Given the description of an element on the screen output the (x, y) to click on. 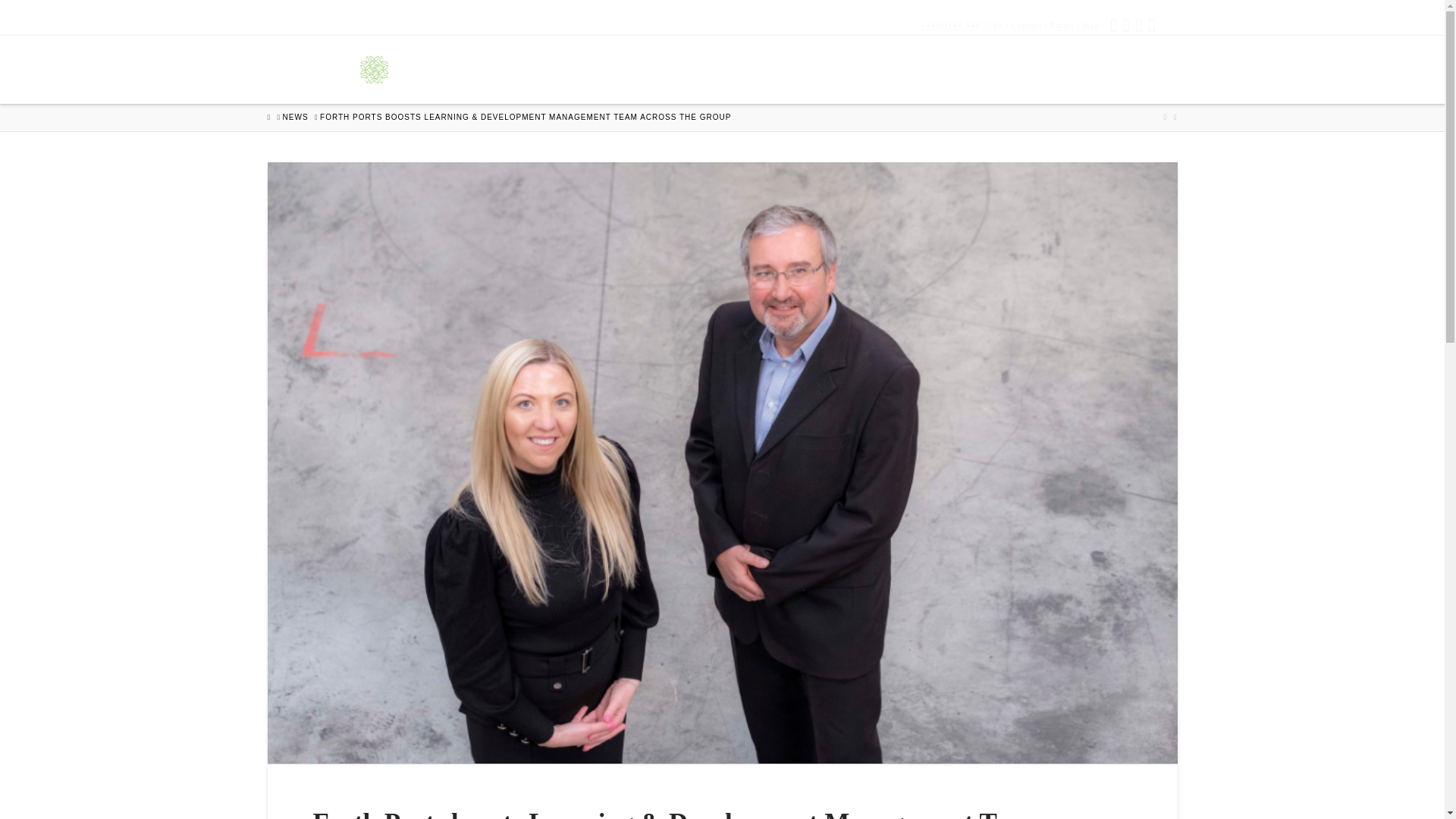
Email (1061, 25)
You Are Here (525, 117)
TEAM (711, 69)
Map (1090, 25)
Contact (1026, 25)
NEWS (295, 117)
NEWS (1095, 69)
OUR WORK (899, 69)
CLIENTS (795, 69)
SERVICES (1007, 69)
